Given the description of an element on the screen output the (x, y) to click on. 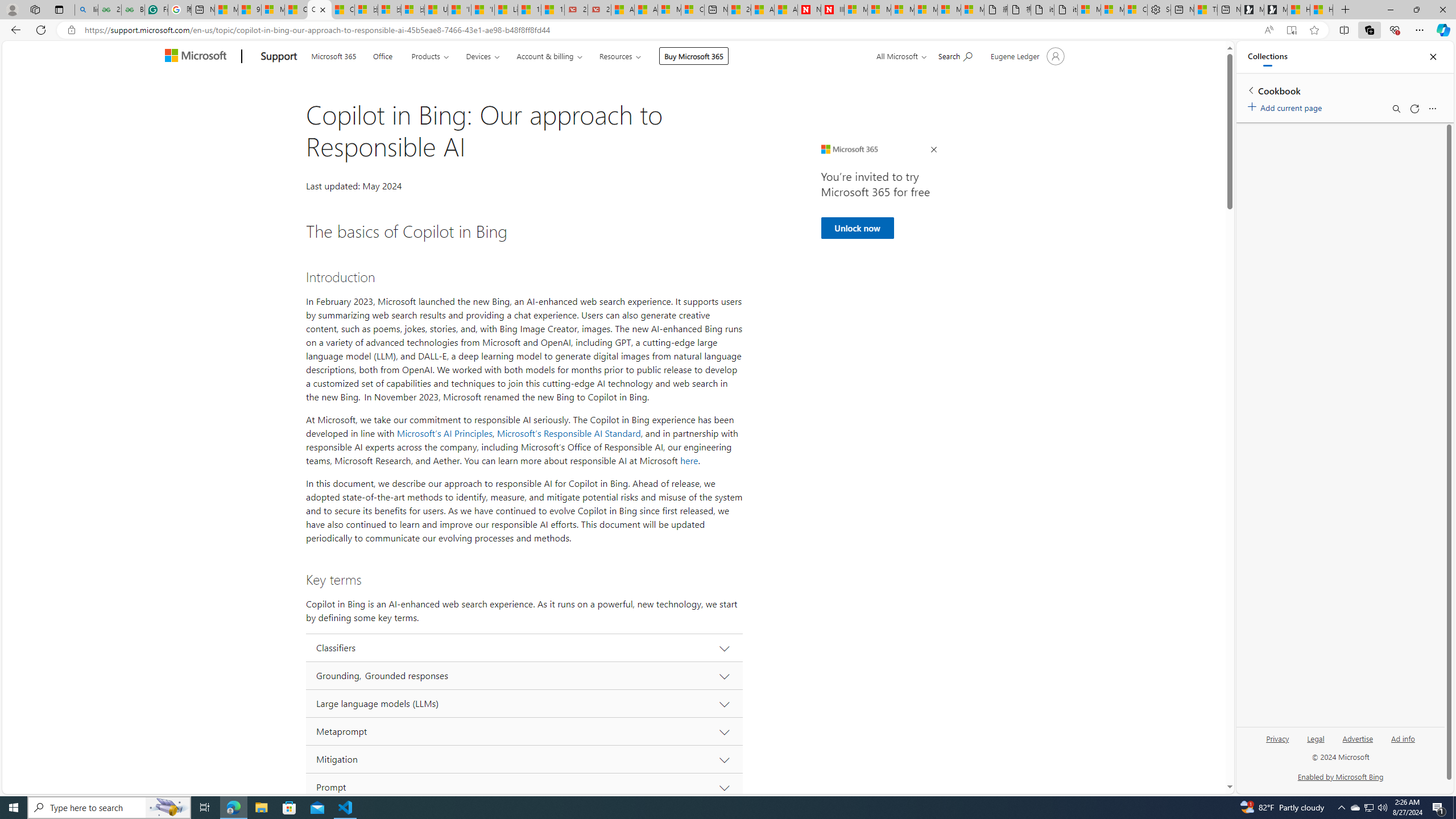
Account manager for Eugene Ledger (1025, 55)
